Given the description of an element on the screen output the (x, y) to click on. 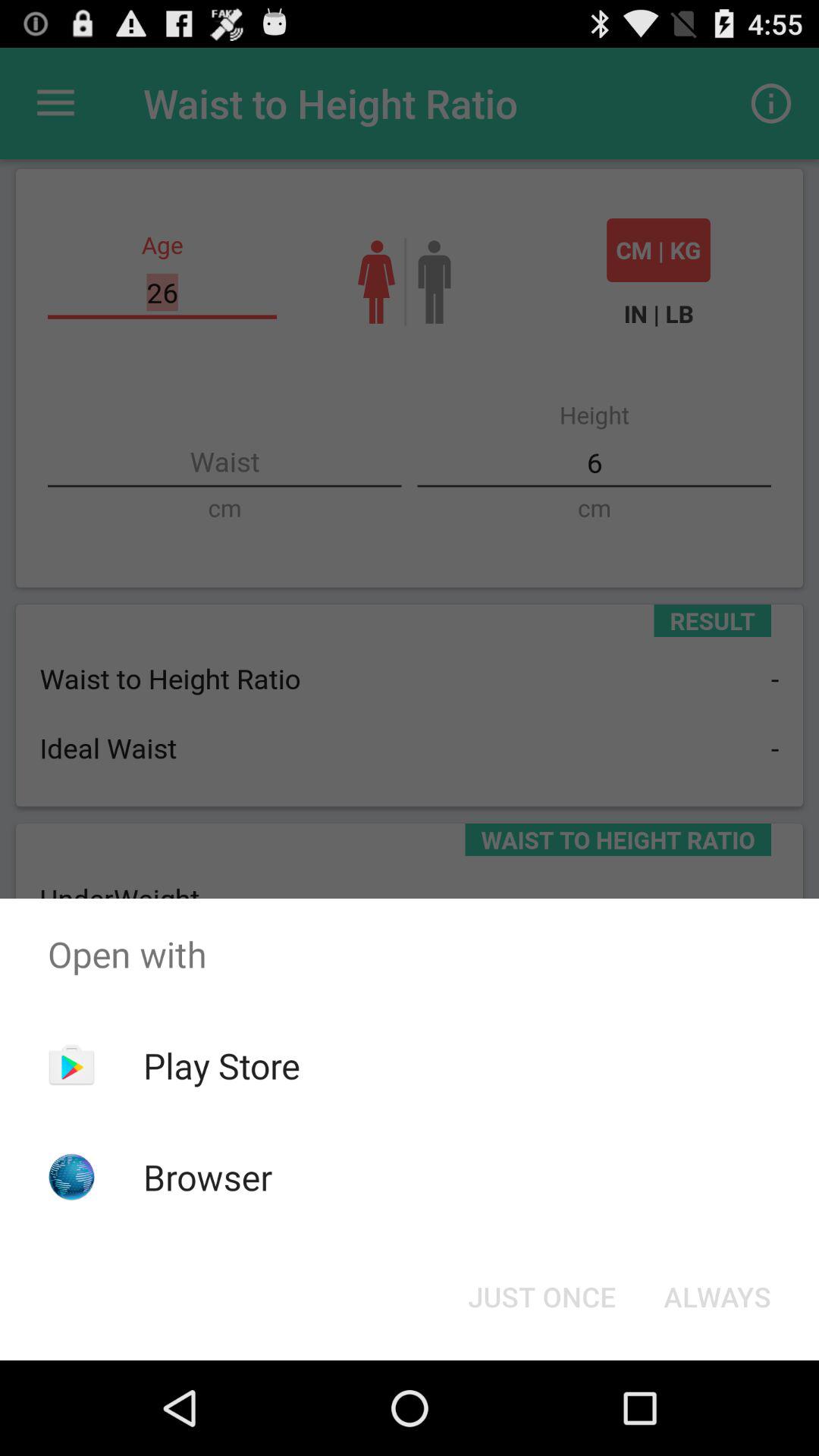
choose item to the left of the always icon (541, 1296)
